Given the description of an element on the screen output the (x, y) to click on. 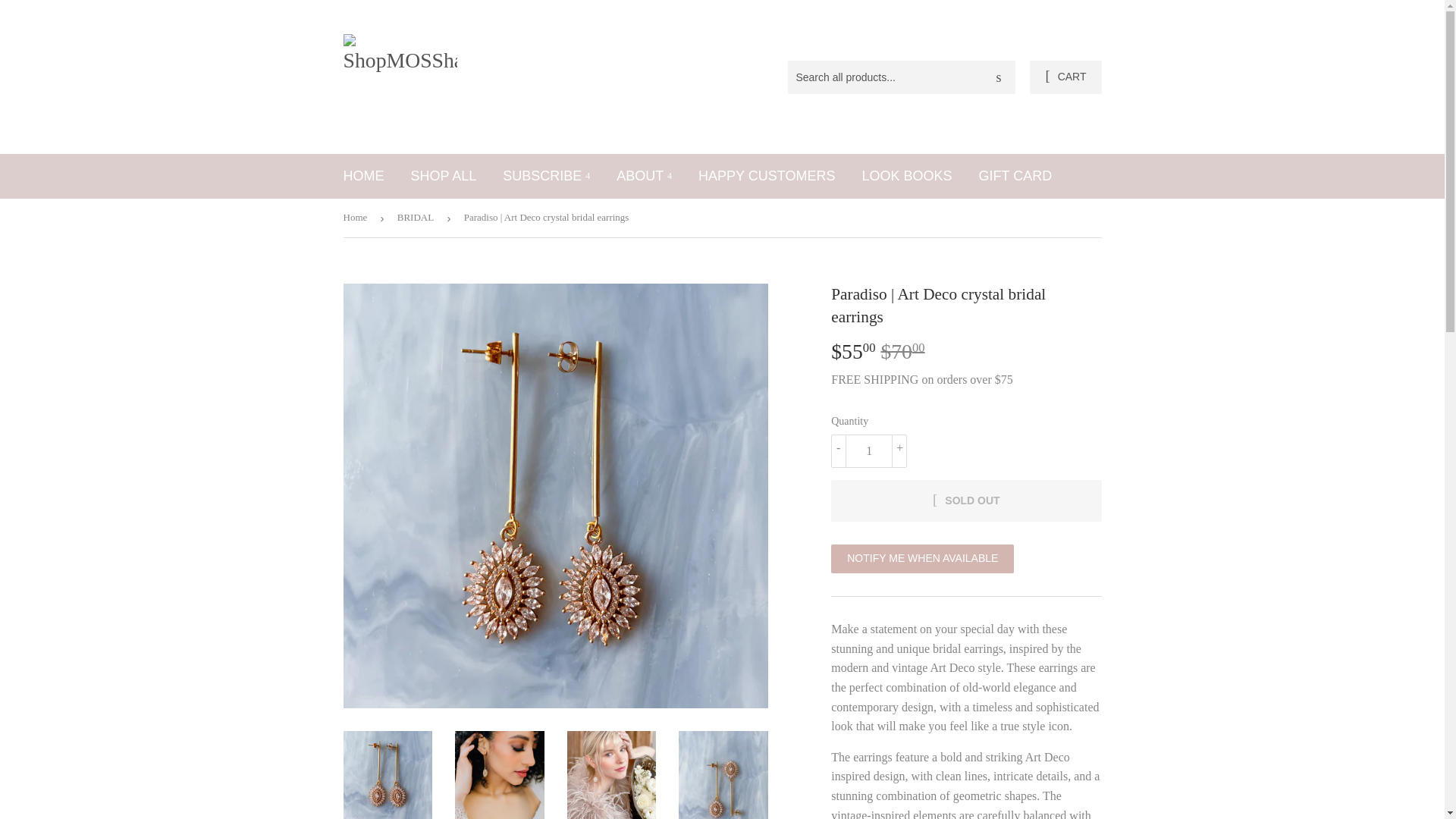
ABOUT (643, 176)
HOME (363, 176)
CART (1064, 77)
SUBSCRIBE (546, 176)
SHOP ALL (442, 176)
HAPPY CUSTOMERS (766, 176)
Search (997, 78)
1 (869, 450)
BRIDAL (418, 218)
GIFT CARD (1014, 176)
LOOK BOOKS (906, 176)
